Given the description of an element on the screen output the (x, y) to click on. 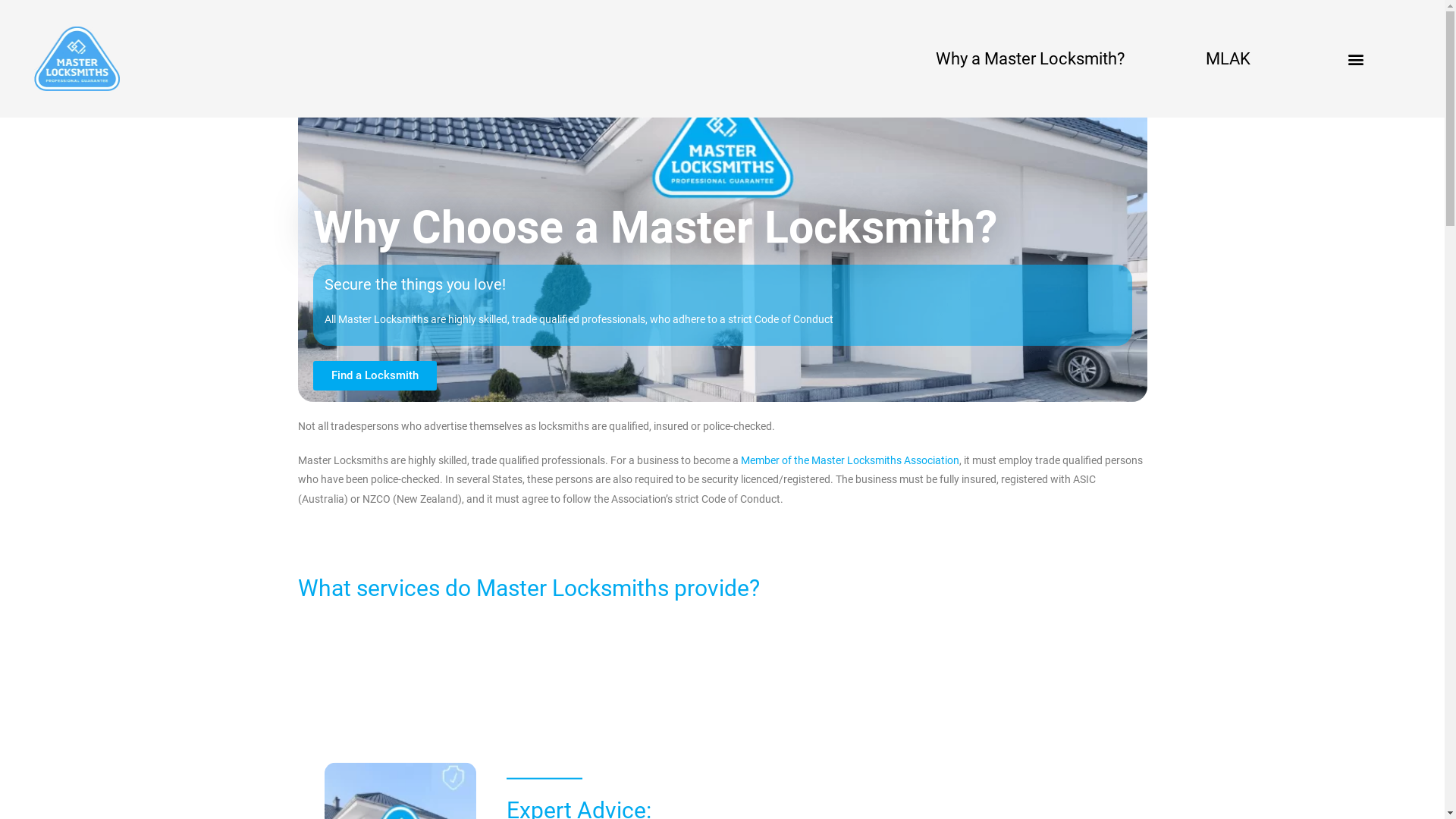
Why a Master Locksmith? Element type: text (1029, 57)
Member of the Master Locksmiths Association Element type: text (849, 460)
MLAK Element type: text (1227, 57)
Find a Locksmith Element type: text (374, 375)
